Given the description of an element on the screen output the (x, y) to click on. 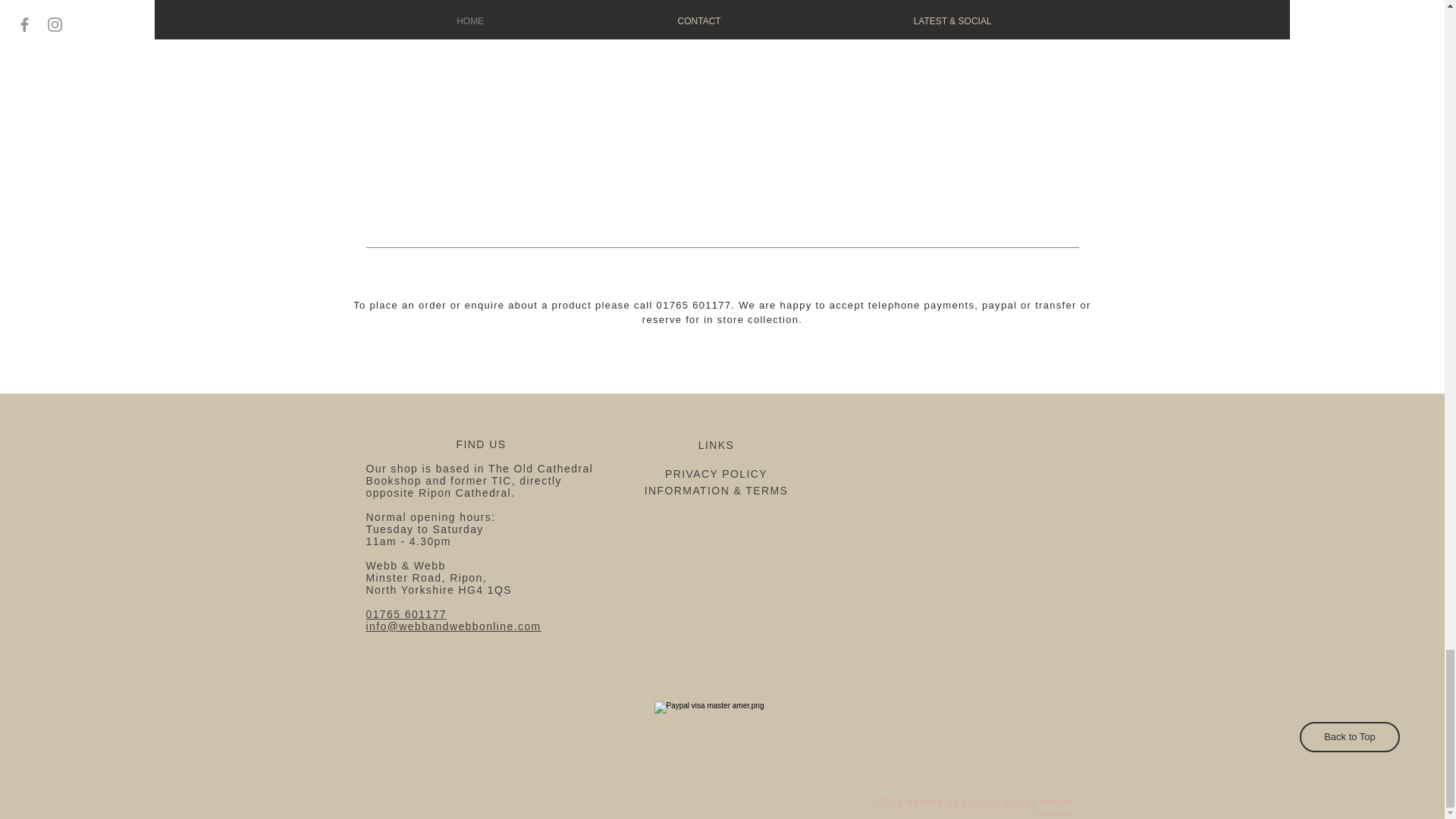
01765 601177 (405, 613)
Sarreas Studio (996, 801)
PRIVACY POLICY (716, 473)
